Given the description of an element on the screen output the (x, y) to click on. 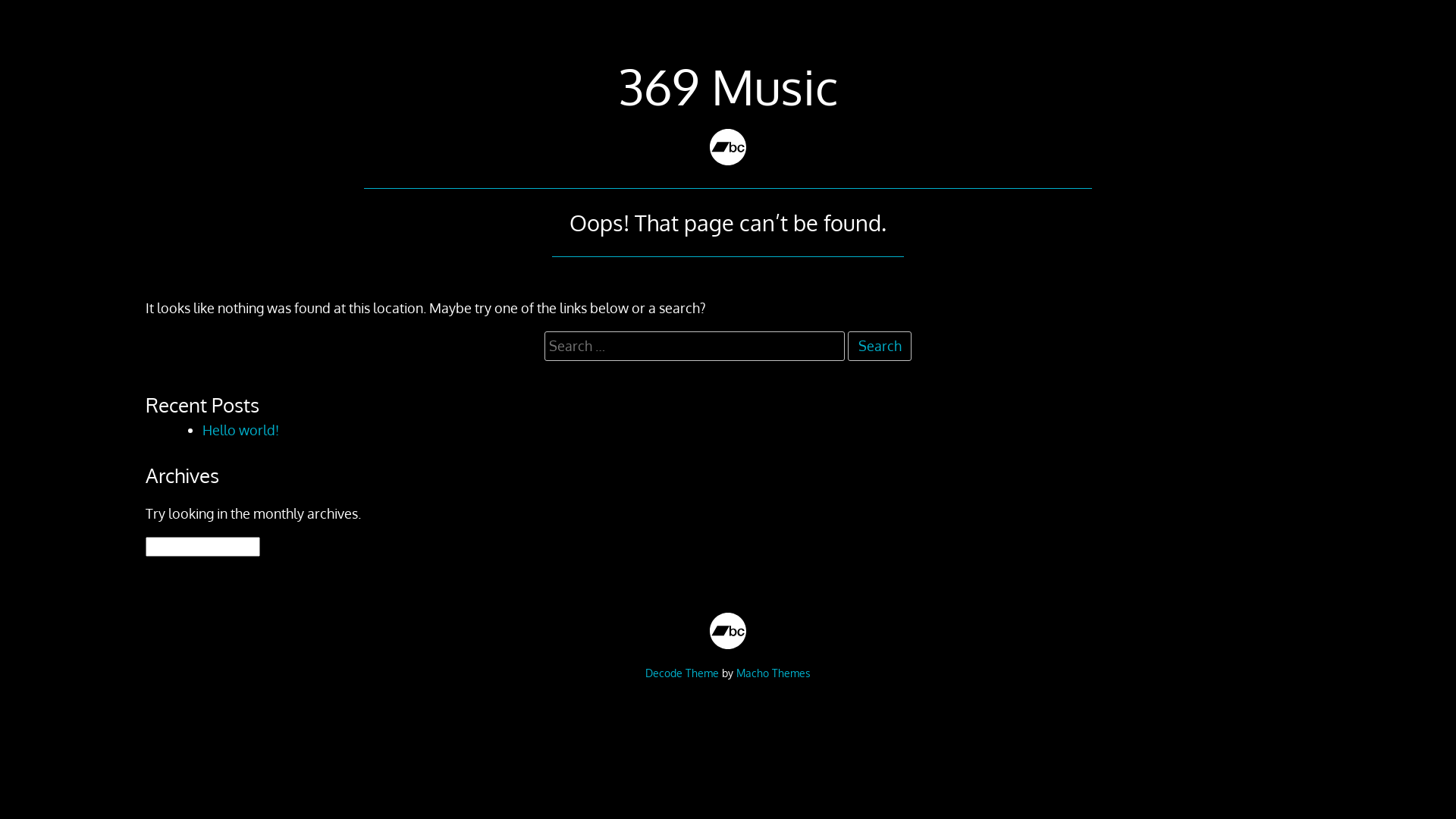
Macho Themes Element type: text (773, 672)
369 Music Element type: text (727, 85)
Hello world! Element type: text (240, 429)
Decode Theme Element type: text (681, 672)
Search Element type: text (879, 345)
